Given the description of an element on the screen output the (x, y) to click on. 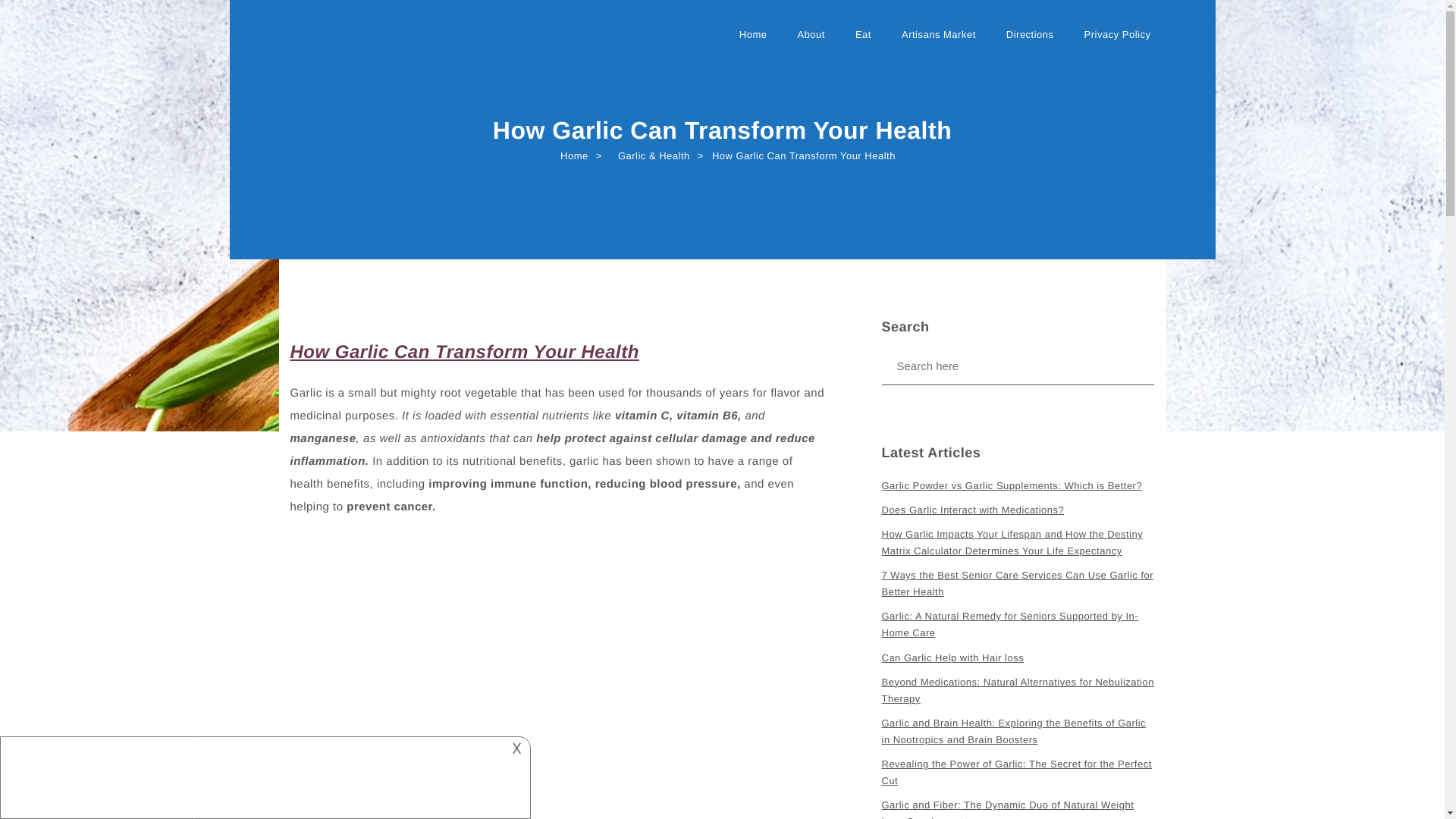
Home (753, 41)
Garlic Powder vs Garlic Supplements: Which is Better? (1010, 485)
About (810, 41)
Artisans Market (938, 41)
Home (753, 41)
Search (147, 20)
How Garlic Can Transform Your Health (464, 352)
Can Garlic Help with Hair loss (951, 658)
